Given the description of an element on the screen output the (x, y) to click on. 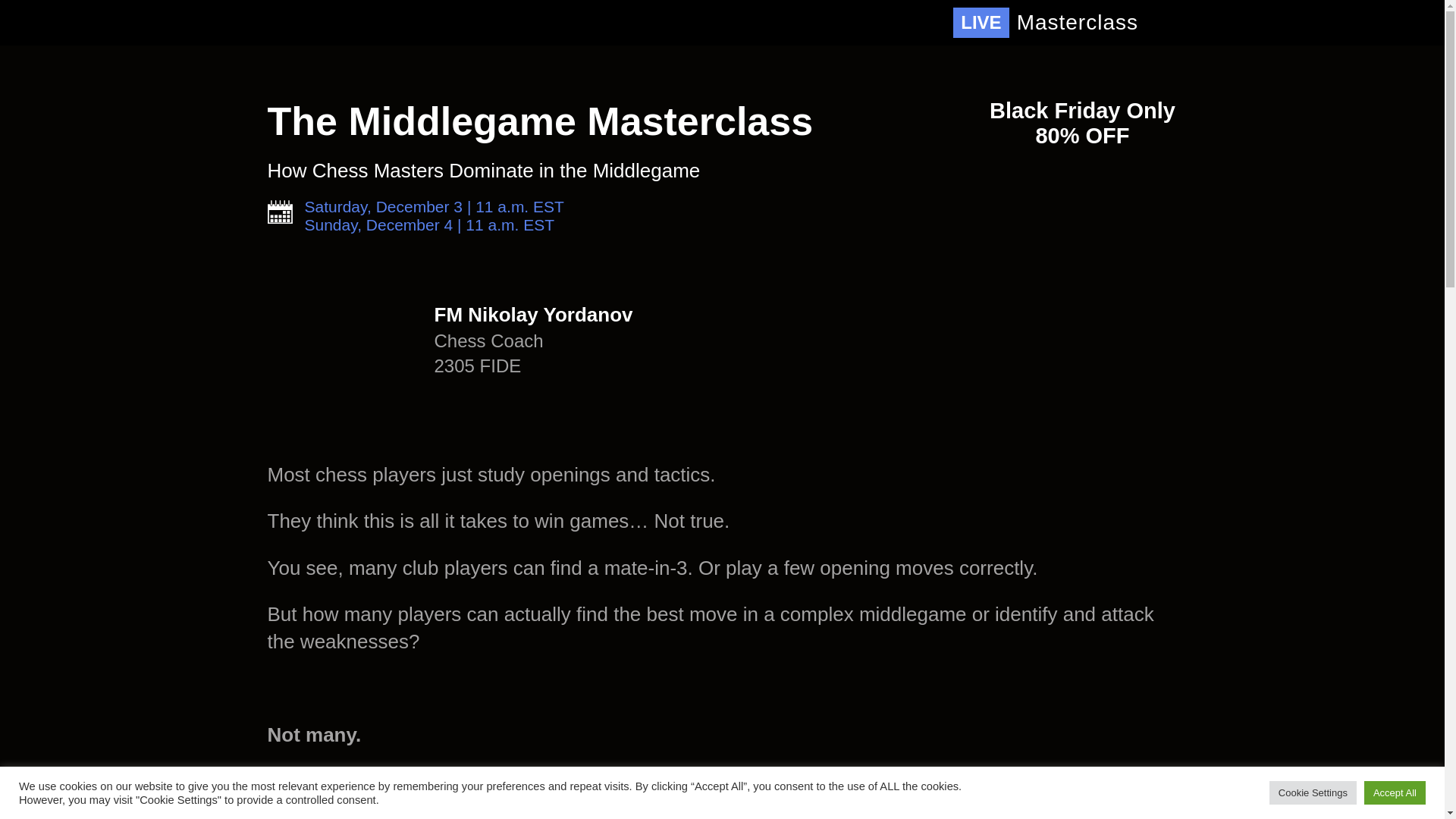
Accept All (1394, 792)
Chesslance.com (408, 22)
Cookie Settings (1312, 792)
